Given the description of an element on the screen output the (x, y) to click on. 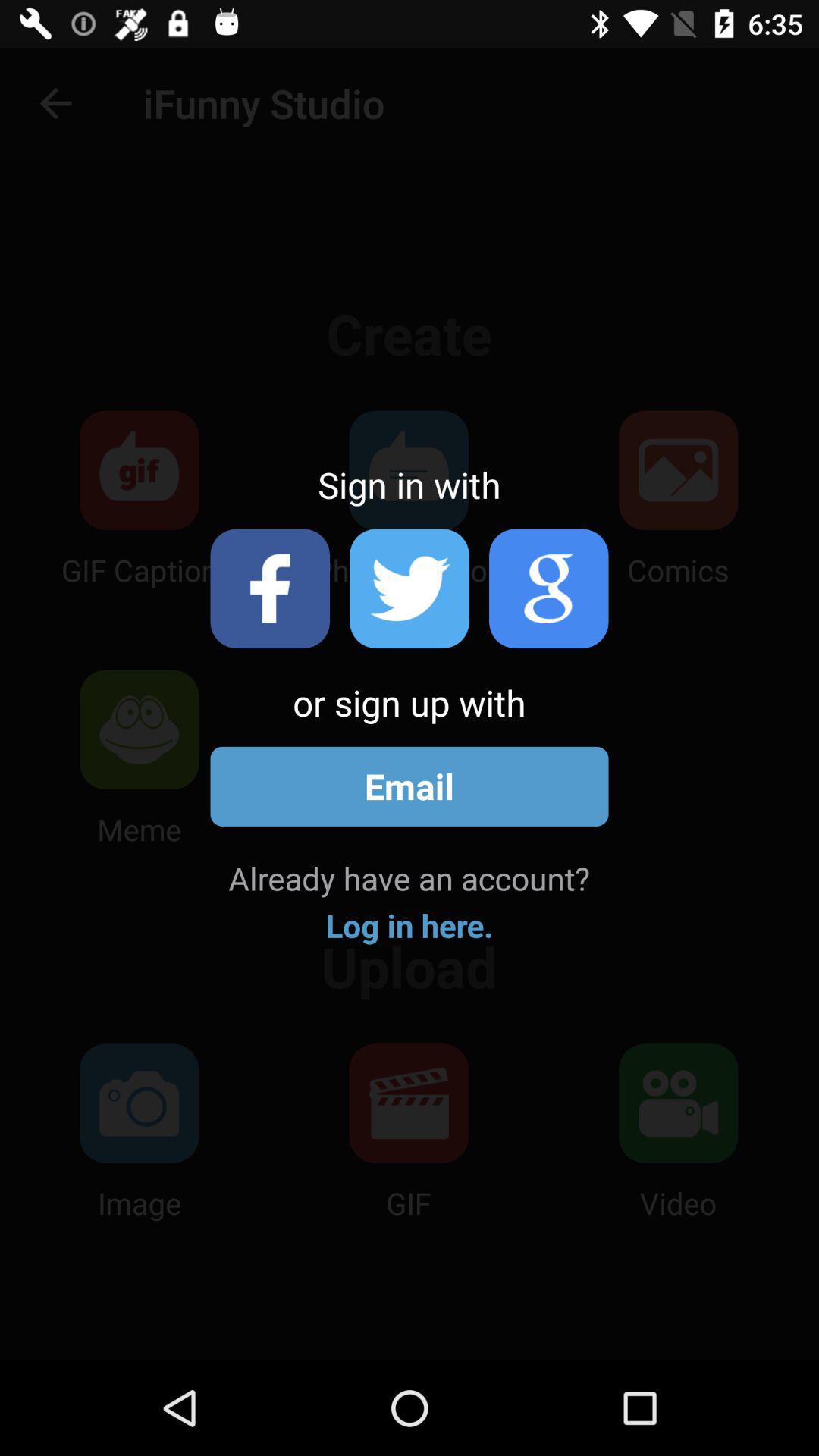
login with facebook account (269, 588)
